Given the description of an element on the screen output the (x, y) to click on. 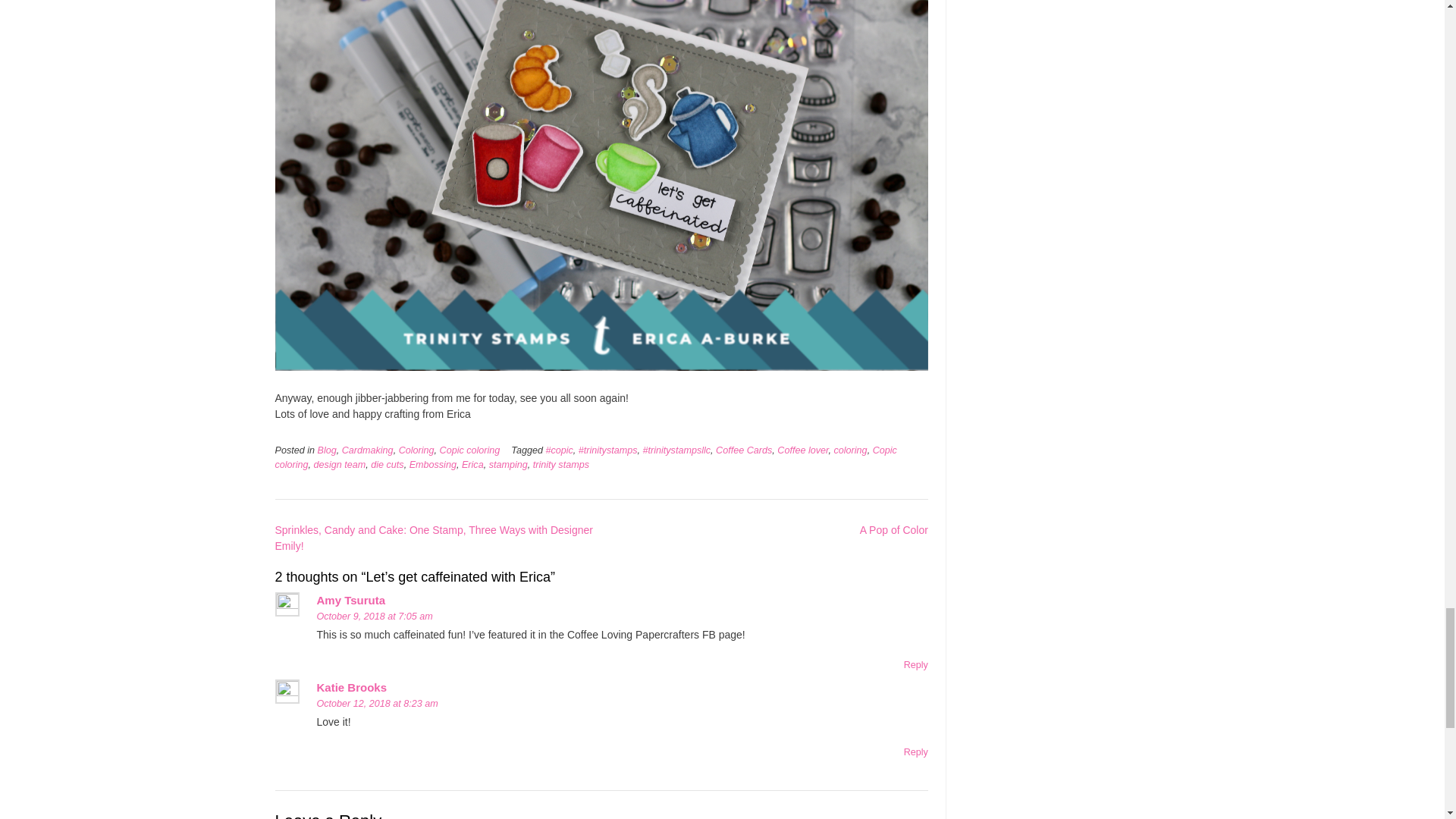
die cuts (387, 464)
stamping (508, 464)
Erica (472, 464)
October 9, 2018 at 7:05 am (374, 615)
Embossing (433, 464)
Blog (326, 450)
Copic coloring (585, 457)
Amy Tsuruta (351, 599)
Reply (916, 751)
trinity stamps (560, 464)
